Given the description of an element on the screen output the (x, y) to click on. 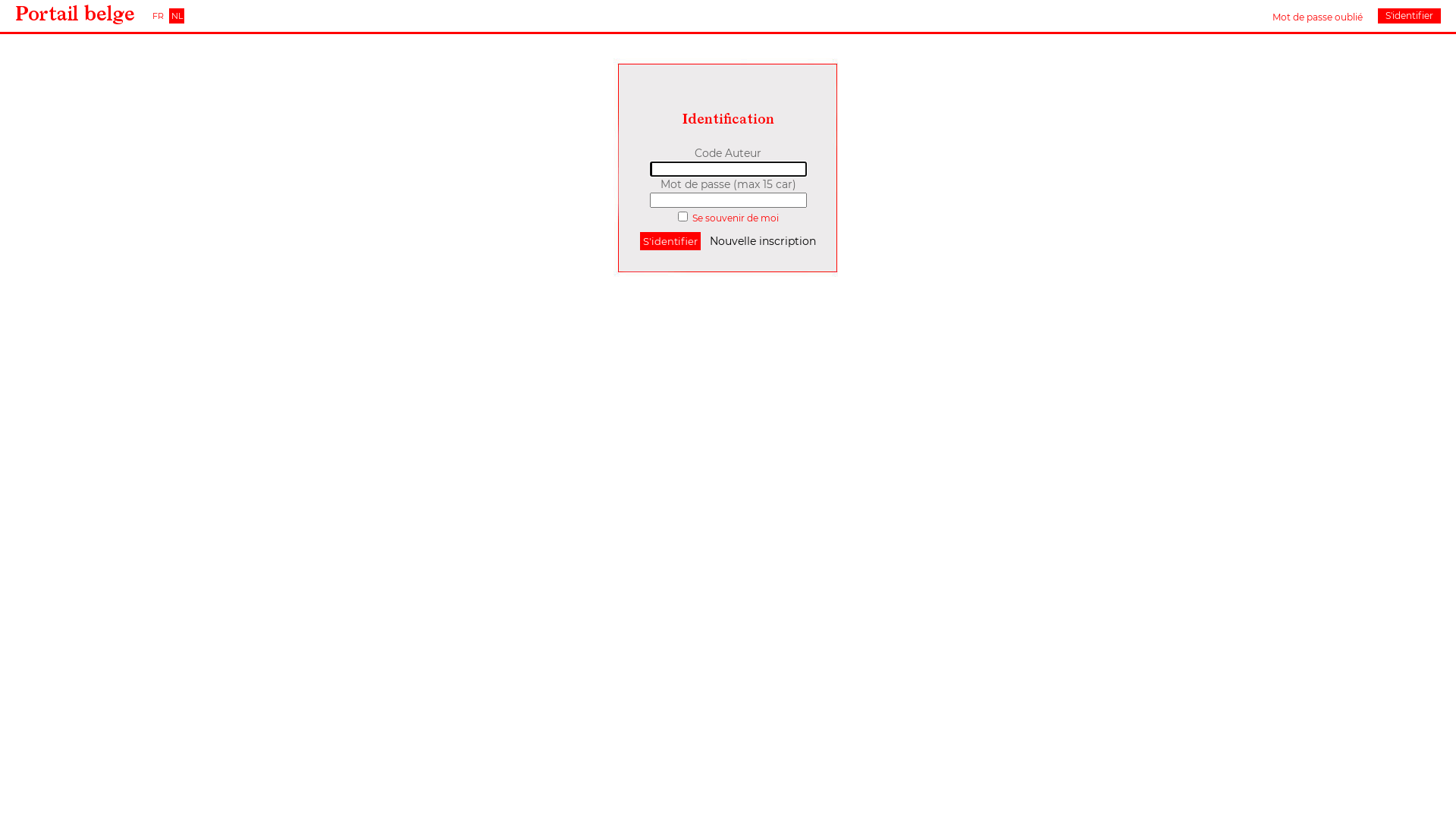
FR Element type: text (157, 15)
Portail belge Element type: text (74, 14)
S'identifier Element type: text (1408, 15)
NL Element type: text (176, 15)
Nouvelle inscription Element type: text (762, 240)
S'identifier Element type: text (670, 241)
